Given the description of an element on the screen output the (x, y) to click on. 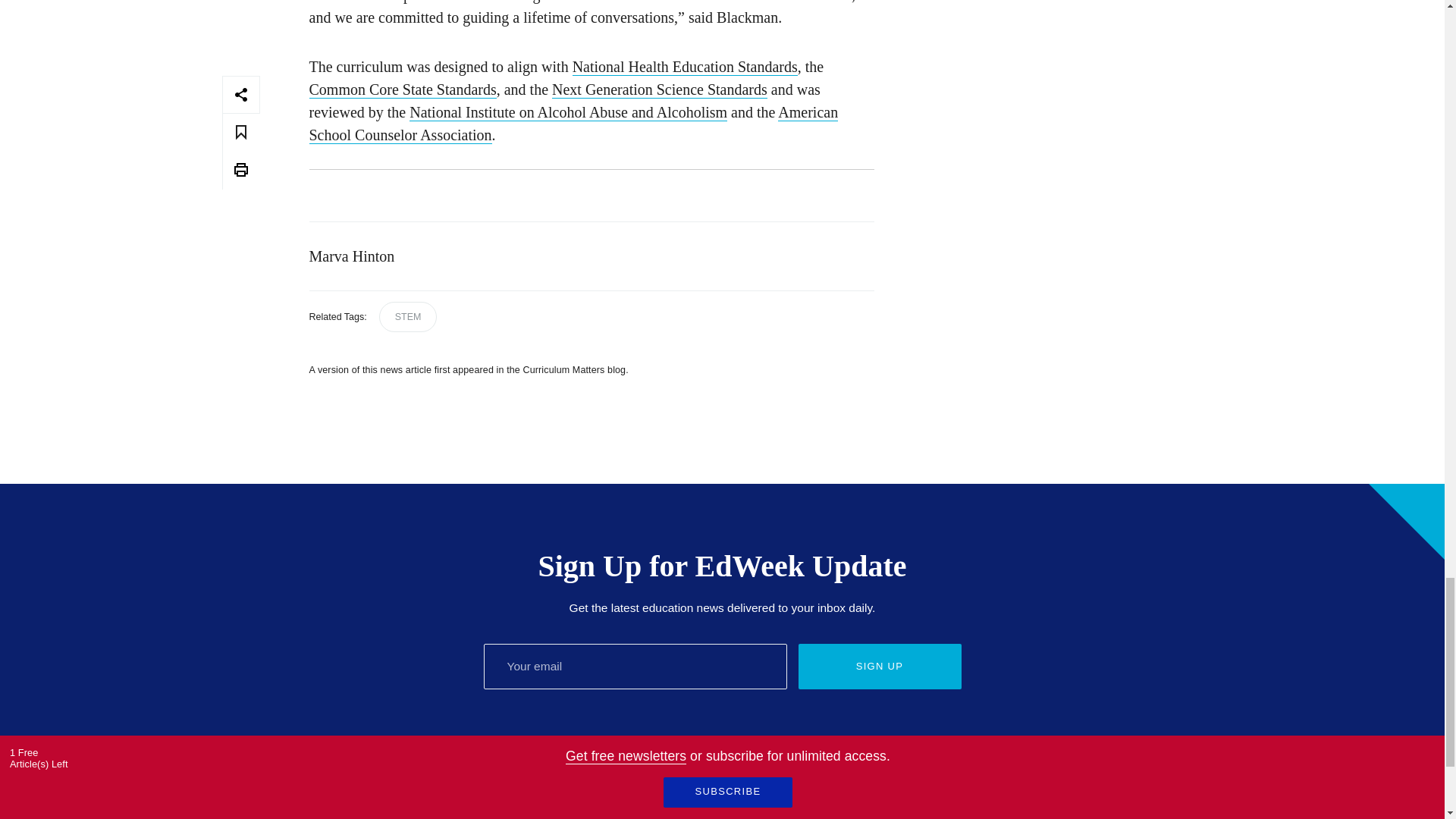
Homepage (320, 799)
